Given the description of an element on the screen output the (x, y) to click on. 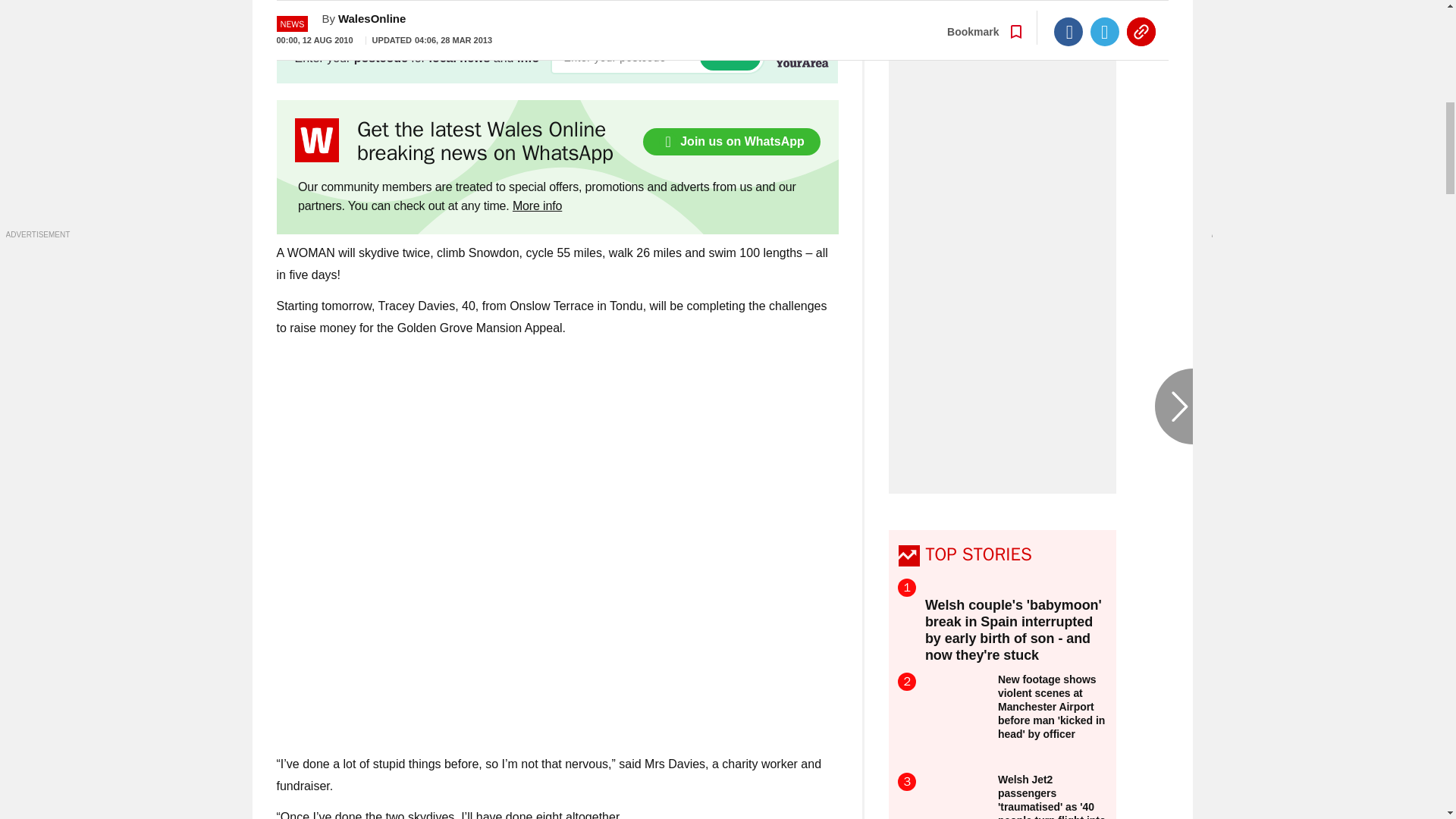
Go (730, 57)
